Given the description of an element on the screen output the (x, y) to click on. 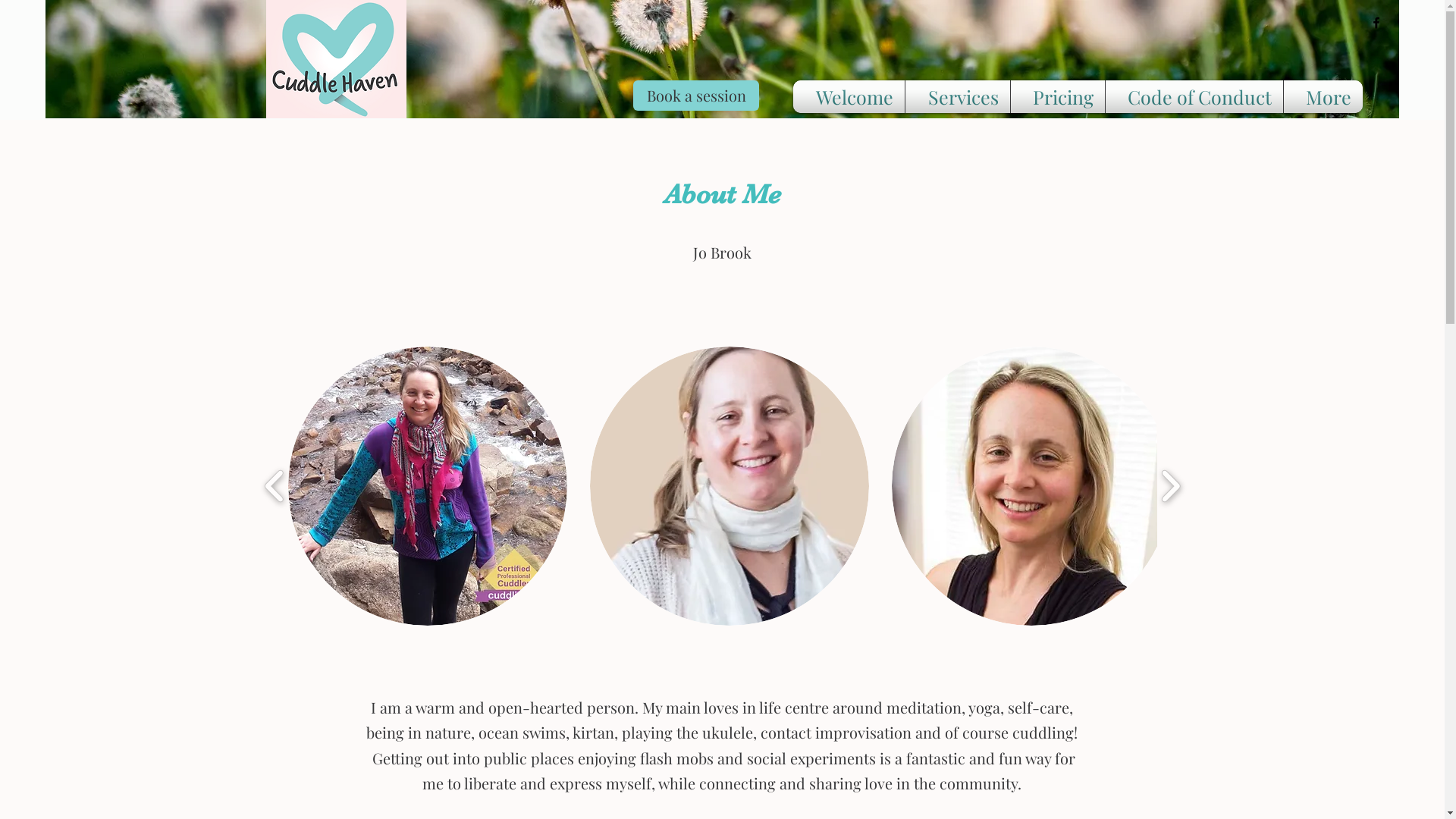
Services Element type: text (957, 96)
Pricing Element type: text (1057, 96)
Book a session Element type: text (696, 95)
Welcome Element type: text (848, 96)
Code of Conduct Element type: text (1194, 96)
